Given the description of an element on the screen output the (x, y) to click on. 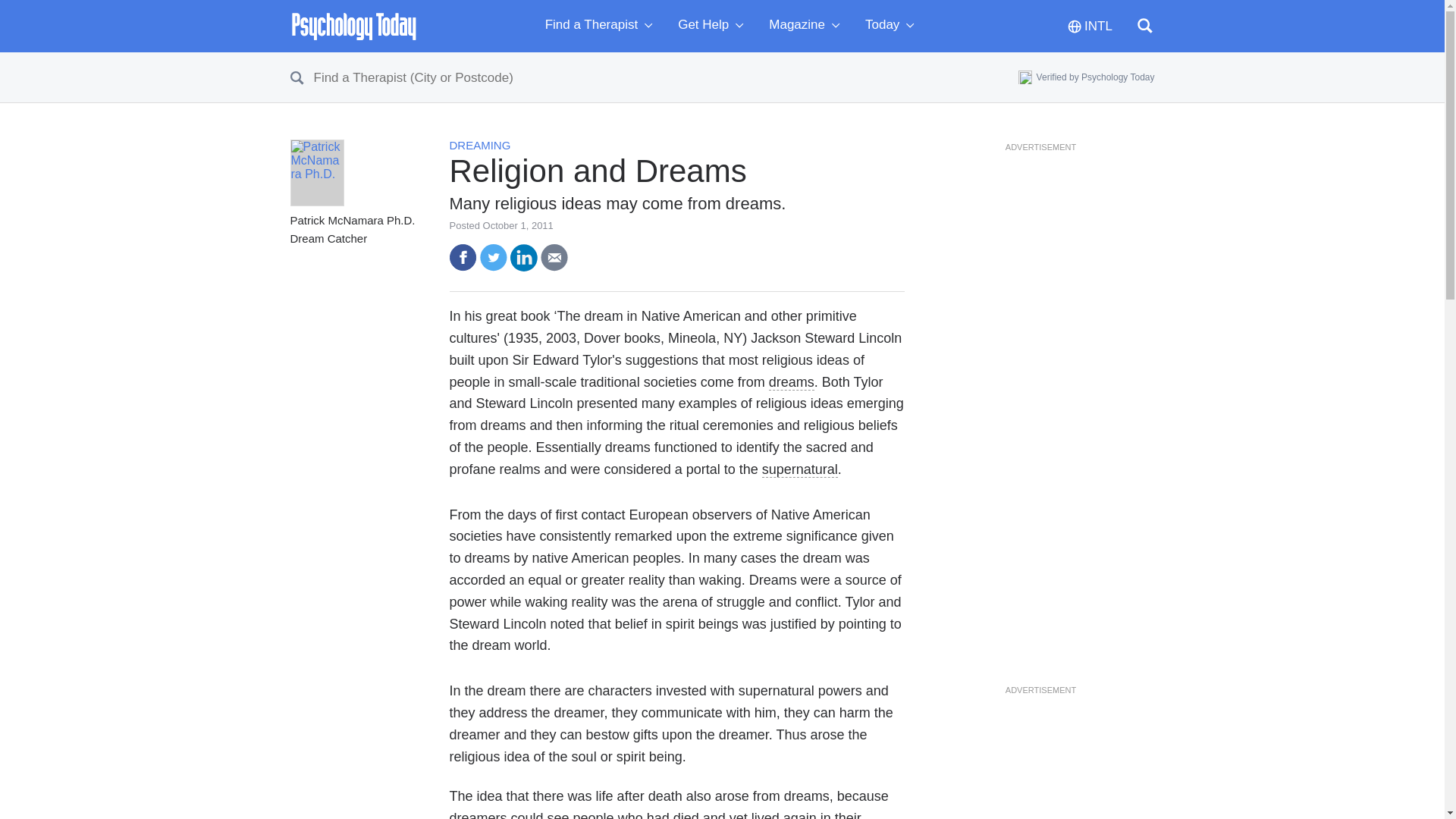
Psychology Today (352, 25)
Find a Therapist (602, 25)
Get Help (714, 25)
